Given the description of an element on the screen output the (x, y) to click on. 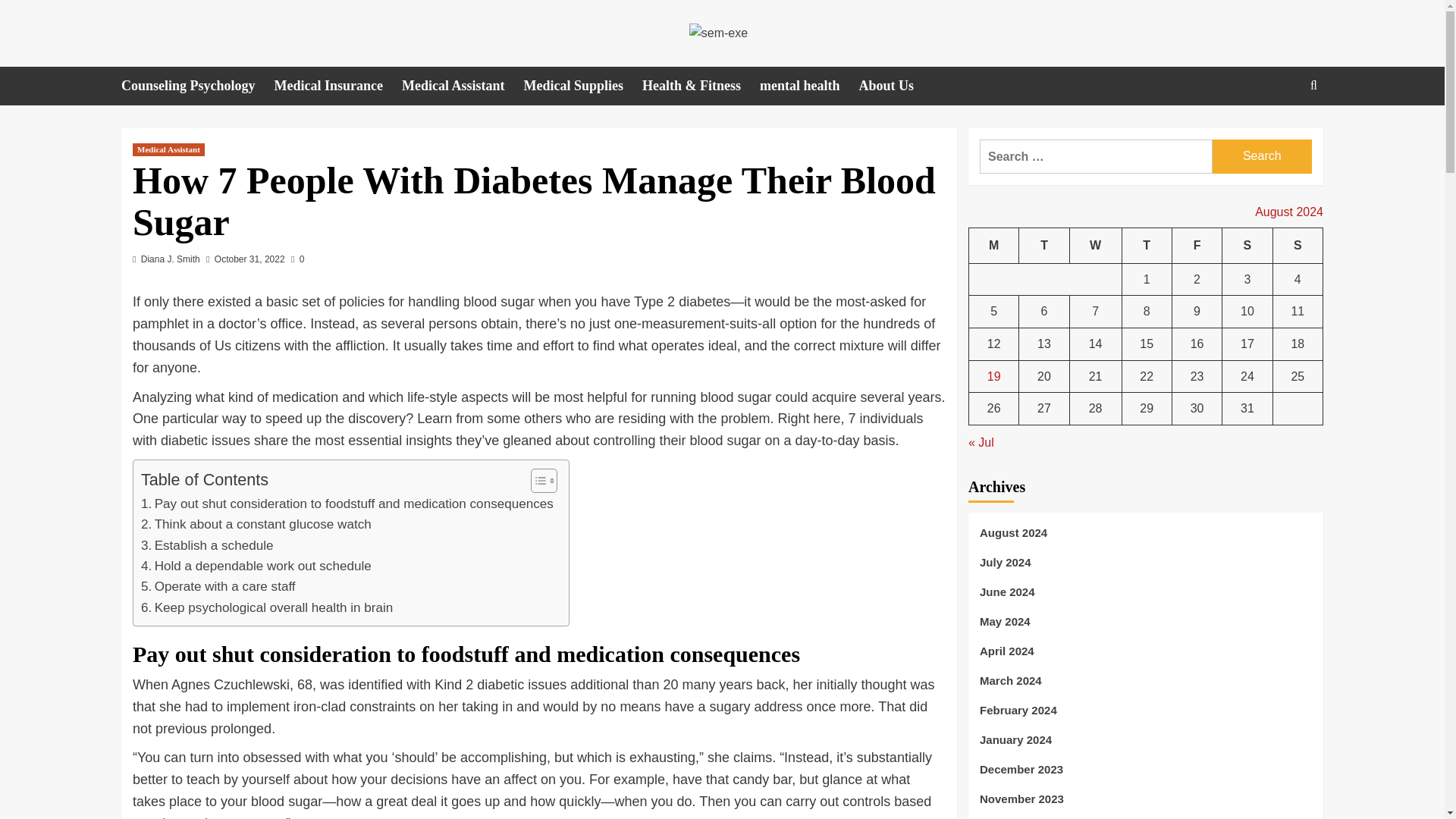
Think about a constant glucose watch (256, 524)
Operate with a care staff (218, 586)
Hold a dependable work out schedule (256, 566)
Think about a constant glucose watch (256, 524)
October 31, 2022 (249, 258)
Monday (994, 245)
mental health (809, 85)
Medical Assistant (462, 85)
Keep psychological overall health in brain (267, 607)
Keep psychological overall health in brain (267, 607)
